Given the description of an element on the screen output the (x, y) to click on. 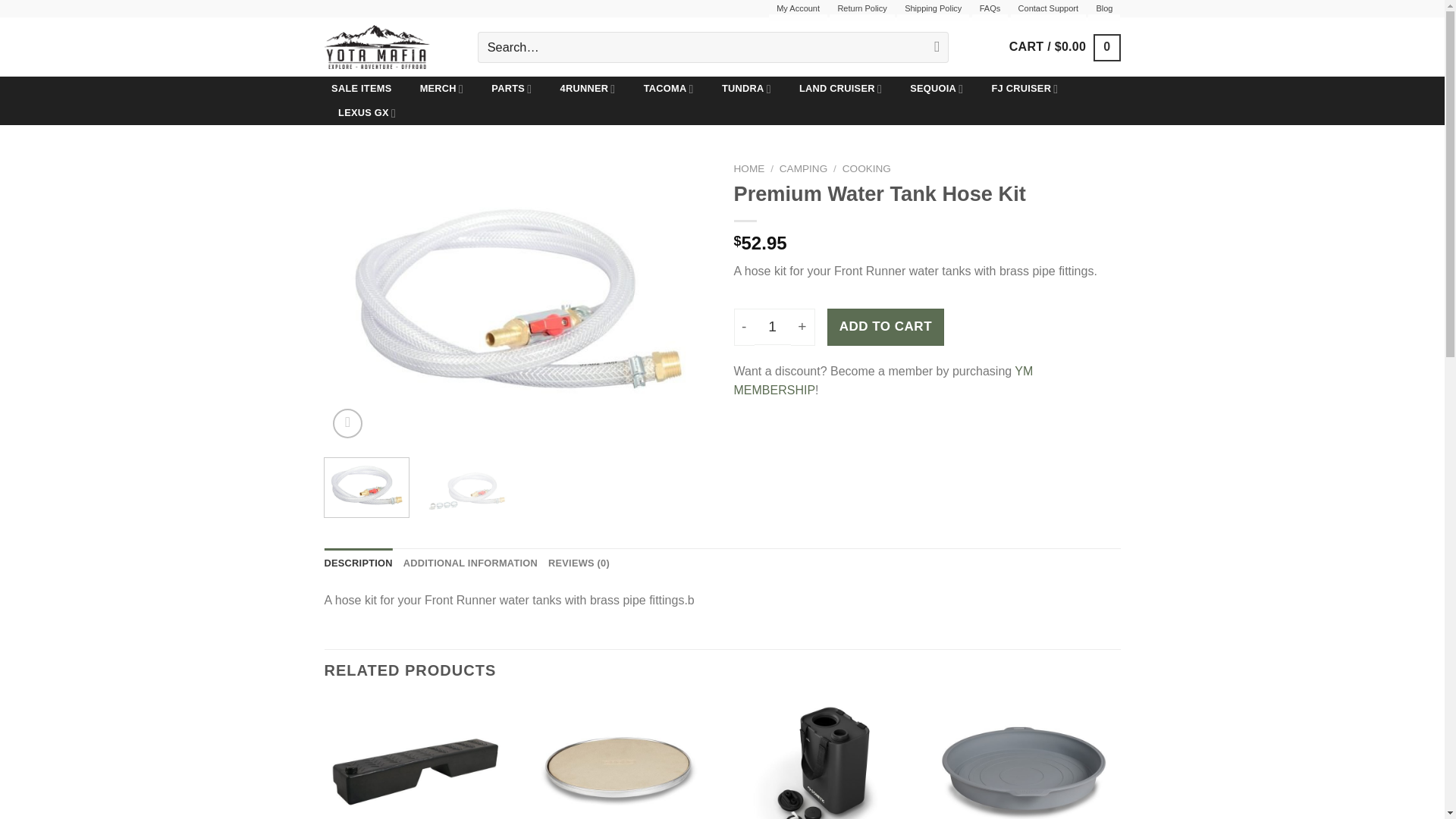
Zoom (347, 423)
PARTS (511, 88)
FAQs (990, 11)
Return Policy (861, 11)
1 (772, 326)
Blog (1103, 11)
MERCH (441, 88)
SALE ITEMS (361, 88)
Shipping Policy (932, 11)
Contact Support (1048, 11)
Cart (1065, 46)
4RUNNER (588, 88)
My Account (797, 11)
YotaMafia (389, 46)
